Given the description of an element on the screen output the (x, y) to click on. 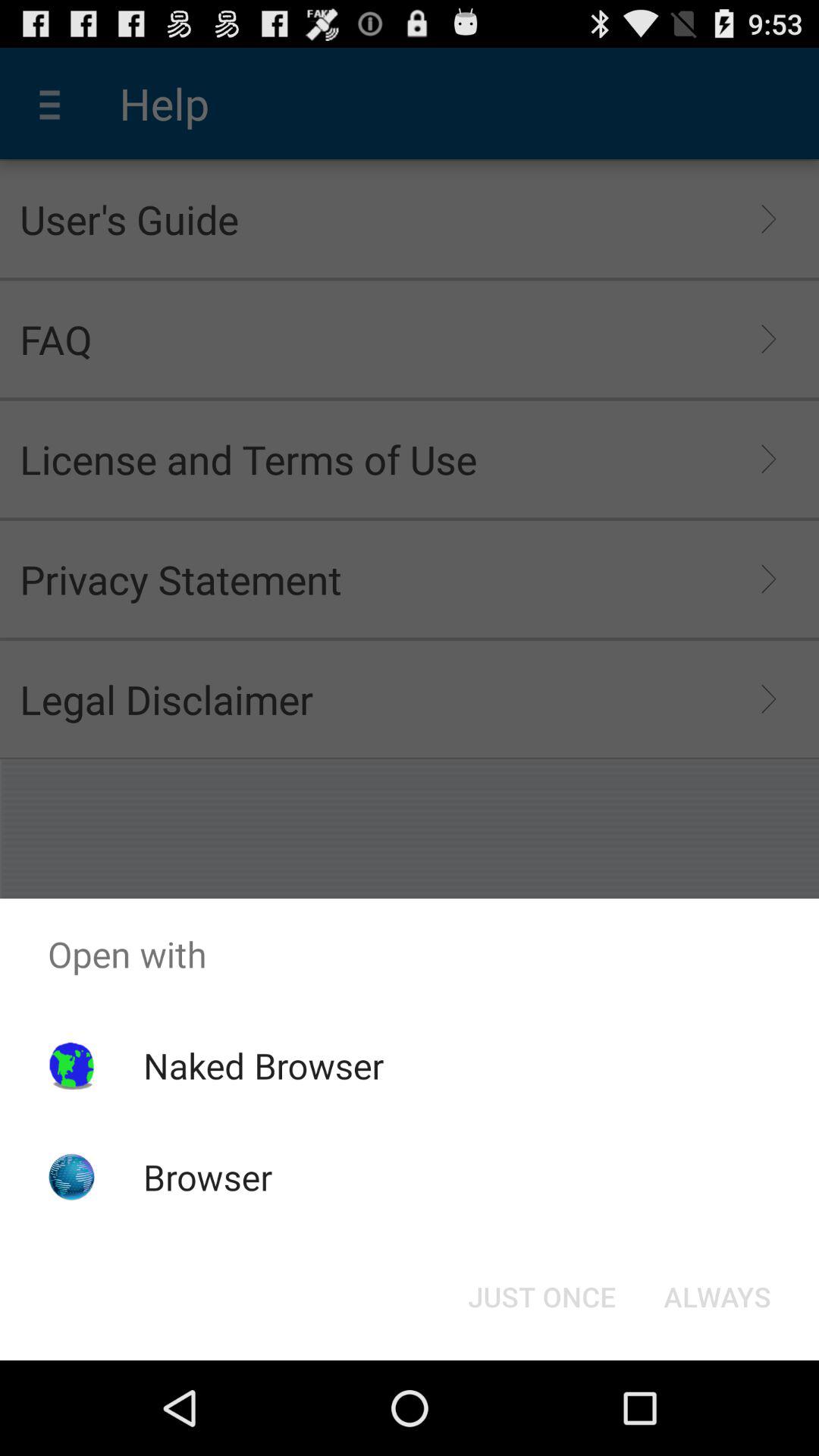
launch the always button (717, 1296)
